Given the description of an element on the screen output the (x, y) to click on. 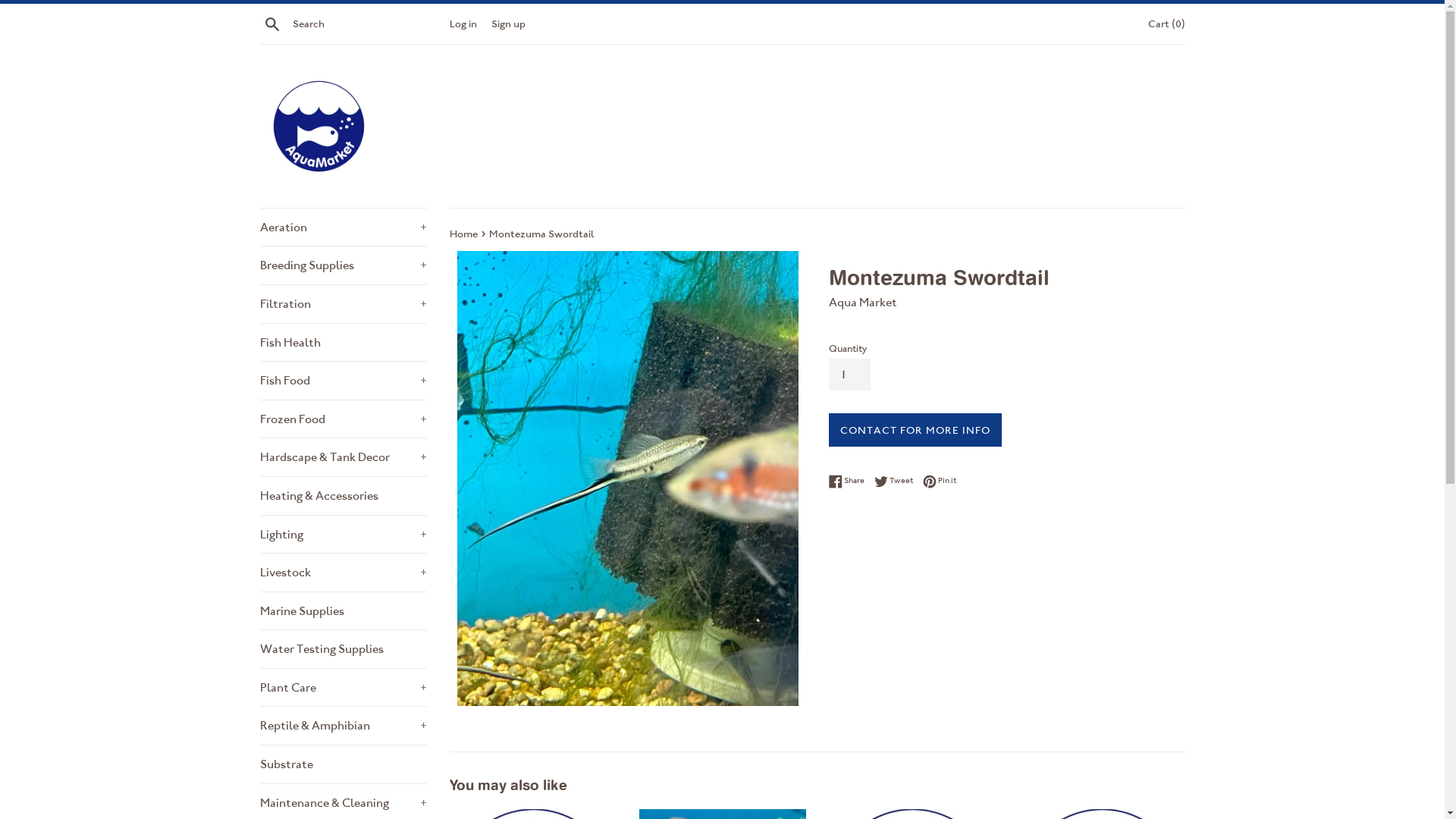
Water Testing Supplies Element type: text (342, 649)
Breeding Supplies
+ Element type: text (342, 265)
Filtration
+ Element type: text (342, 304)
Log in Element type: text (462, 22)
Share
Share on Facebook Element type: text (849, 480)
Search Element type: text (271, 22)
Livestock
+ Element type: text (342, 572)
Aeration
+ Element type: text (342, 227)
Substrate Element type: text (342, 764)
Plant Care
+ Element type: text (342, 687)
Heating & Accessories Element type: text (342, 495)
Marine Supplies Element type: text (342, 611)
Sign up Element type: text (508, 22)
CONTACT FOR MORE INFO Element type: text (914, 430)
Pin it
Pin on Pinterest Element type: text (938, 480)
Home Element type: text (463, 233)
Fish Food
+ Element type: text (342, 380)
Hardscape & Tank Decor
+ Element type: text (342, 457)
Frozen Food
+ Element type: text (342, 419)
Fish Health Element type: text (342, 342)
Lighting
+ Element type: text (342, 534)
Cart (0) Element type: text (1166, 22)
Tweet
Tweet on Twitter Element type: text (896, 480)
Reptile & Amphibian
+ Element type: text (342, 725)
